Given the description of an element on the screen output the (x, y) to click on. 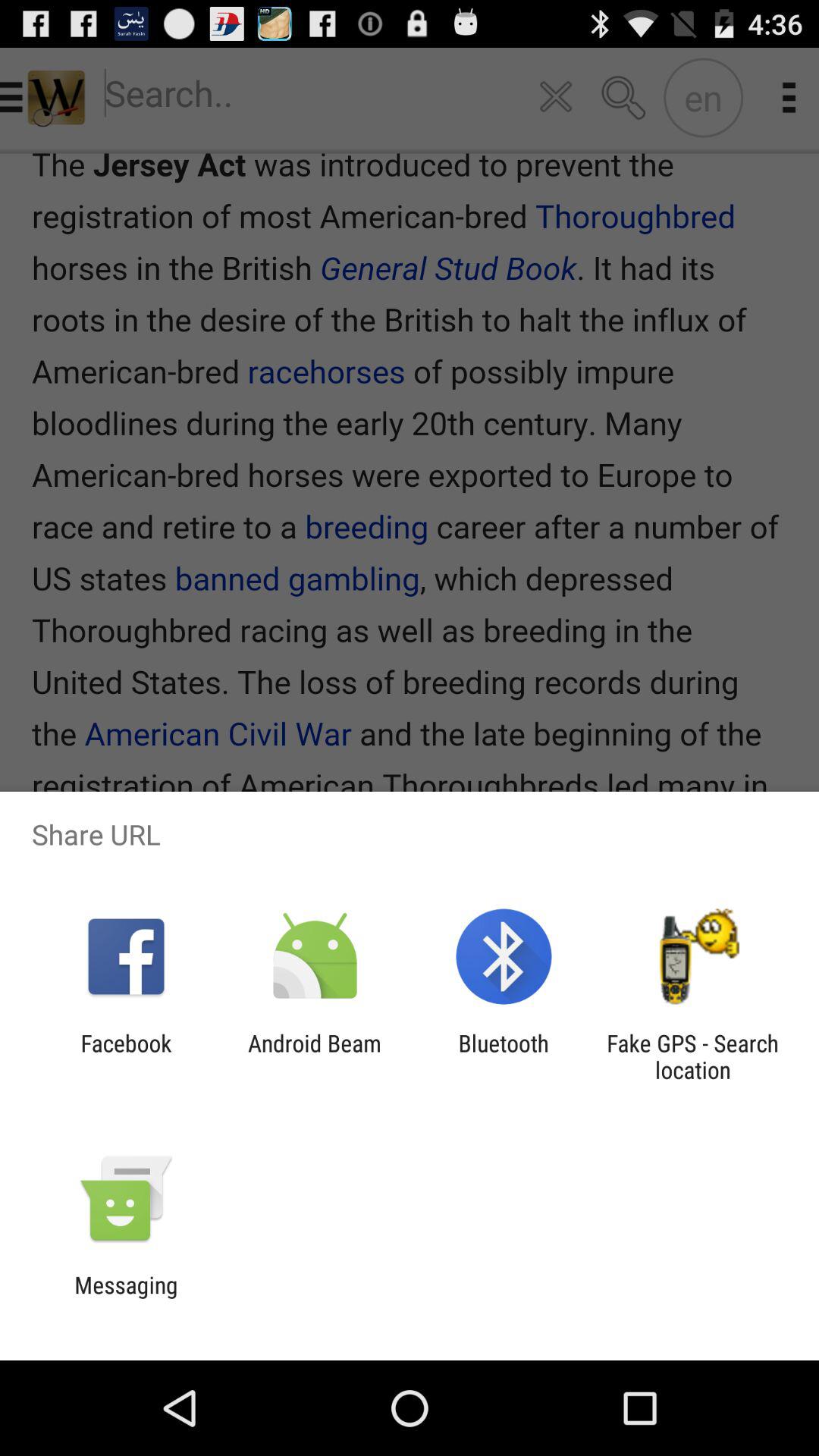
press item next to the facebook app (314, 1056)
